Given the description of an element on the screen output the (x, y) to click on. 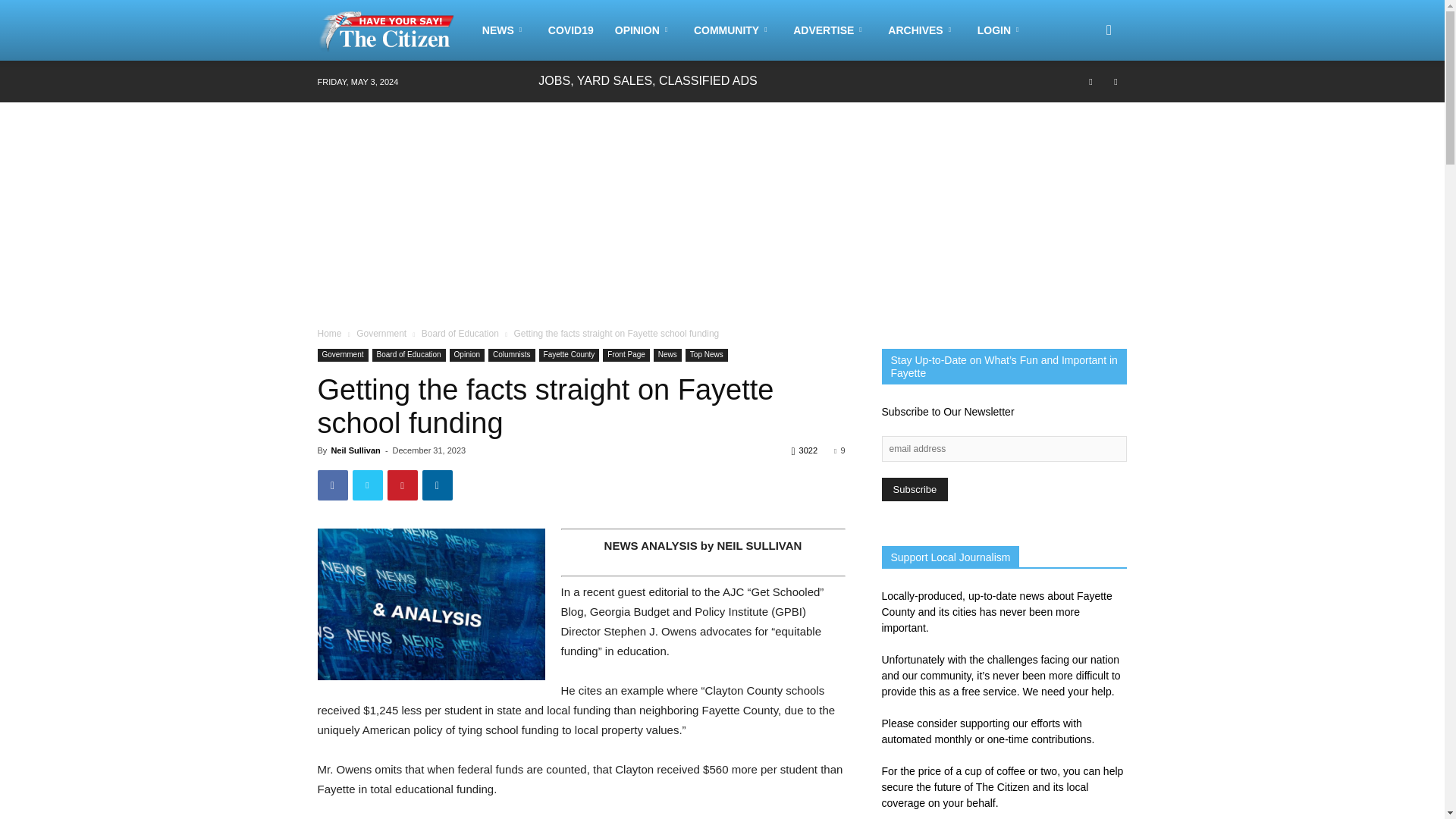
View all posts in Government (381, 333)
Subscribe (913, 489)
View all posts in Board of Education (460, 333)
